Given the description of an element on the screen output the (x, y) to click on. 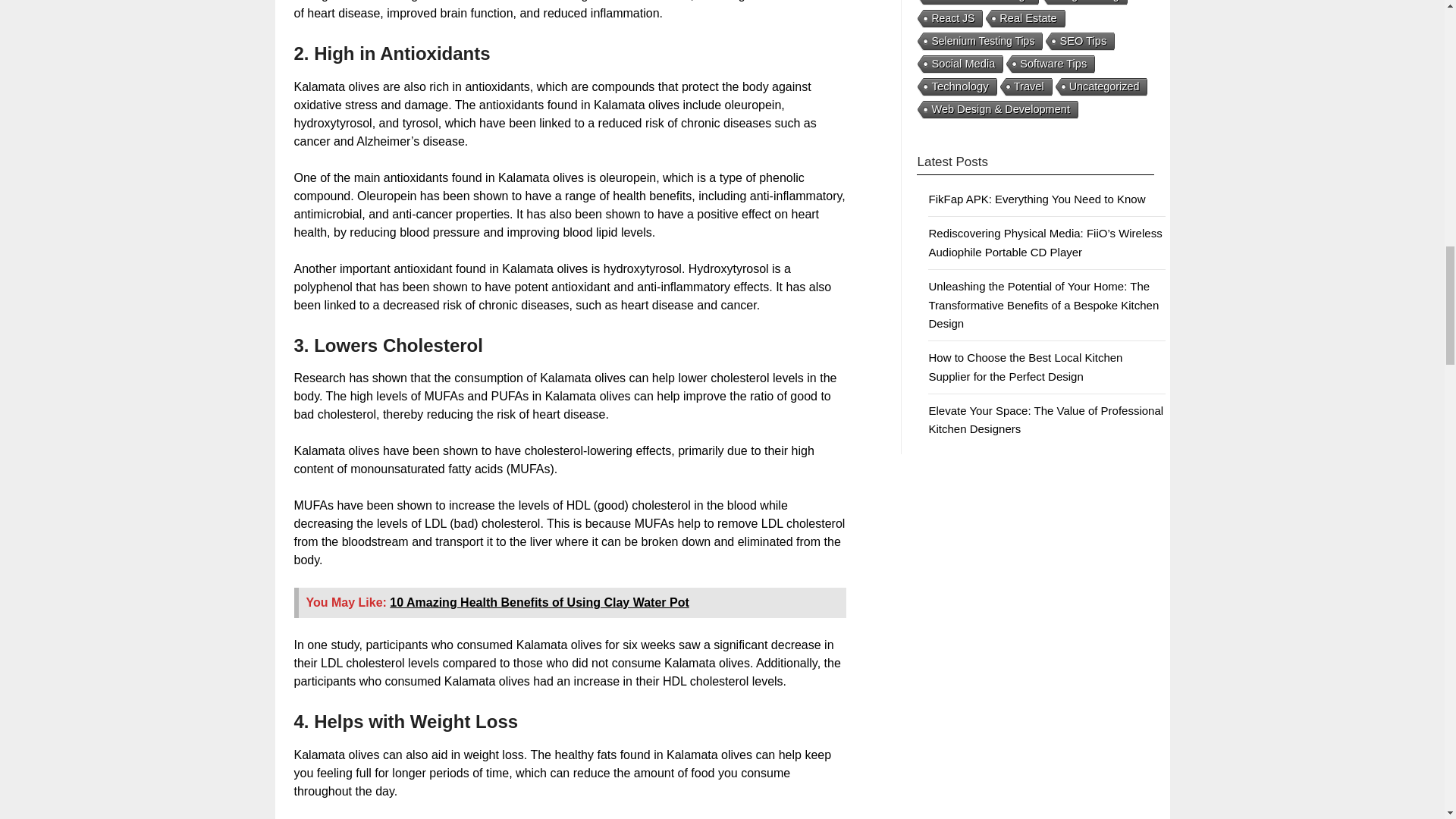
10 Amazing Health Benefits of Using Clay Water Pot (539, 602)
